Given the description of an element on the screen output the (x, y) to click on. 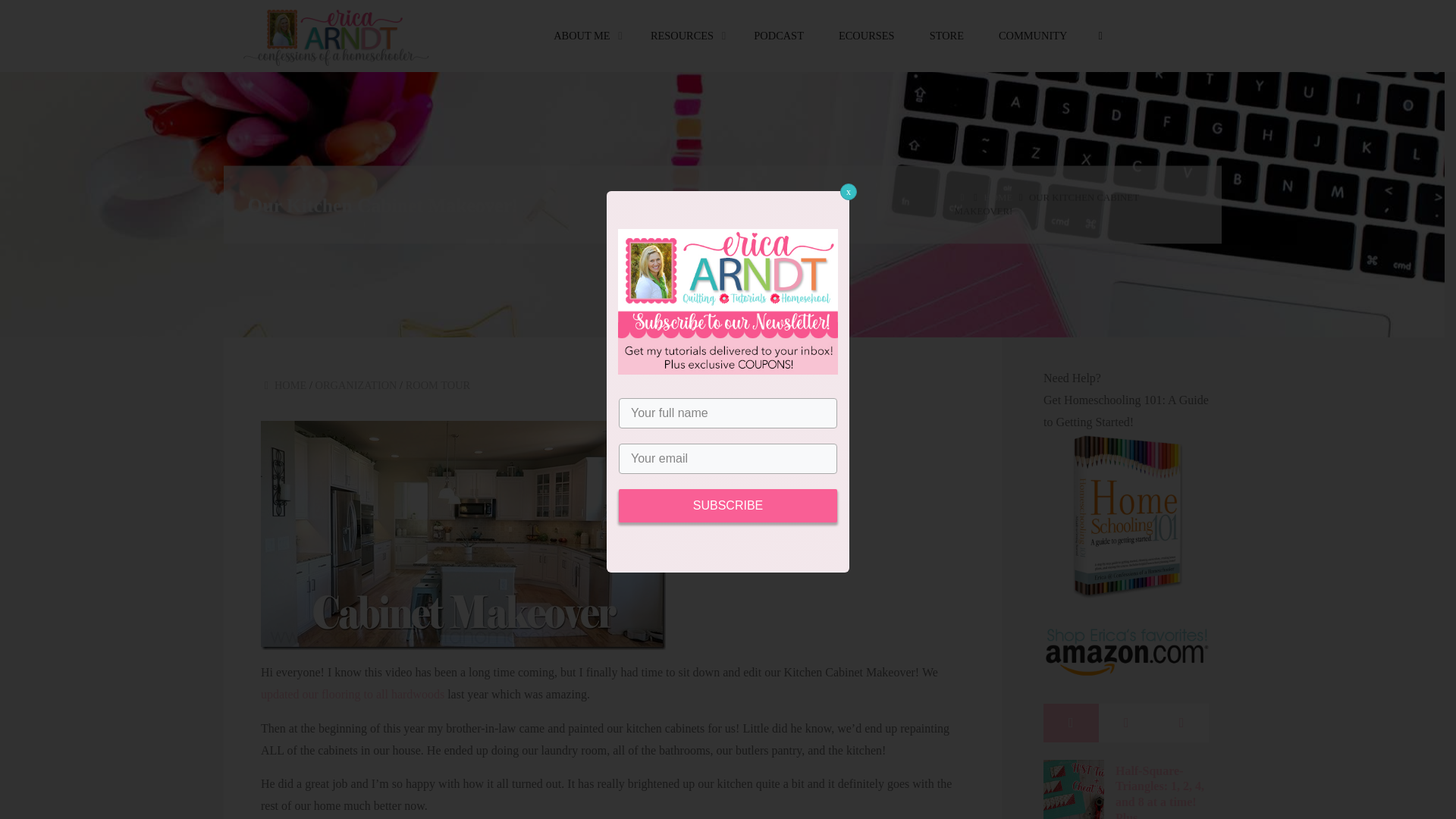
homeschooling101bookcover (1126, 515)
ABOUT ME (584, 36)
Home (962, 197)
Confessions of a Homeschooler (332, 35)
